Given the description of an element on the screen output the (x, y) to click on. 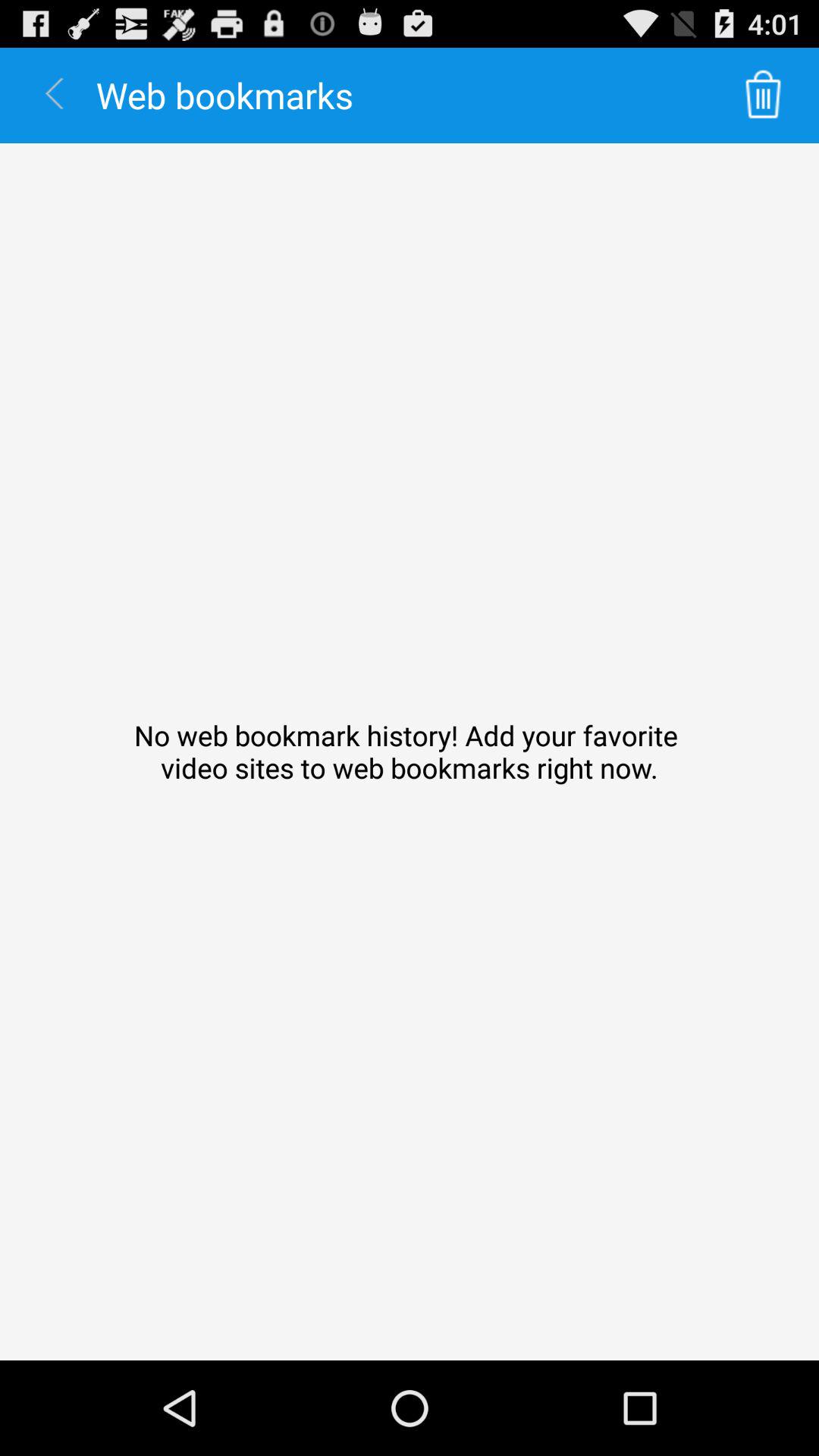
choose the icon next to the web bookmarks item (763, 95)
